Given the description of an element on the screen output the (x, y) to click on. 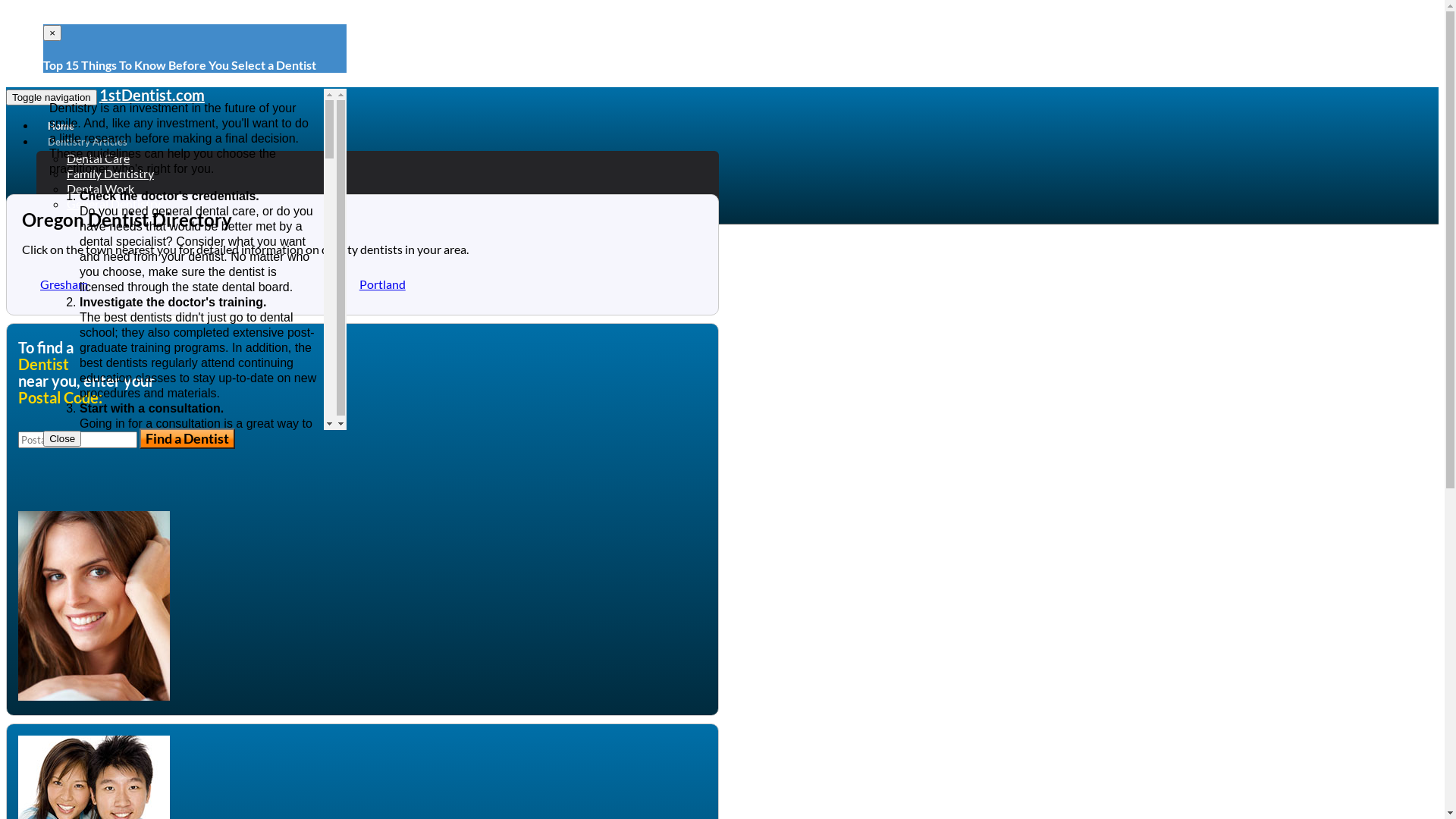
Portland Element type: text (382, 283)
General Dentistry Element type: text (113, 203)
Gresham Element type: text (63, 283)
Close Element type: text (62, 438)
Toggle navigation Element type: text (51, 97)
Dental Care Element type: text (97, 157)
Find a Dentist Element type: text (187, 438)
Home Element type: text (60, 125)
Family Dentistry Element type: text (109, 173)
Dental Work Element type: text (100, 188)
Dentistry Articles Element type: text (87, 141)
1stDentist.com Element type: text (151, 94)
